Given the description of an element on the screen output the (x, y) to click on. 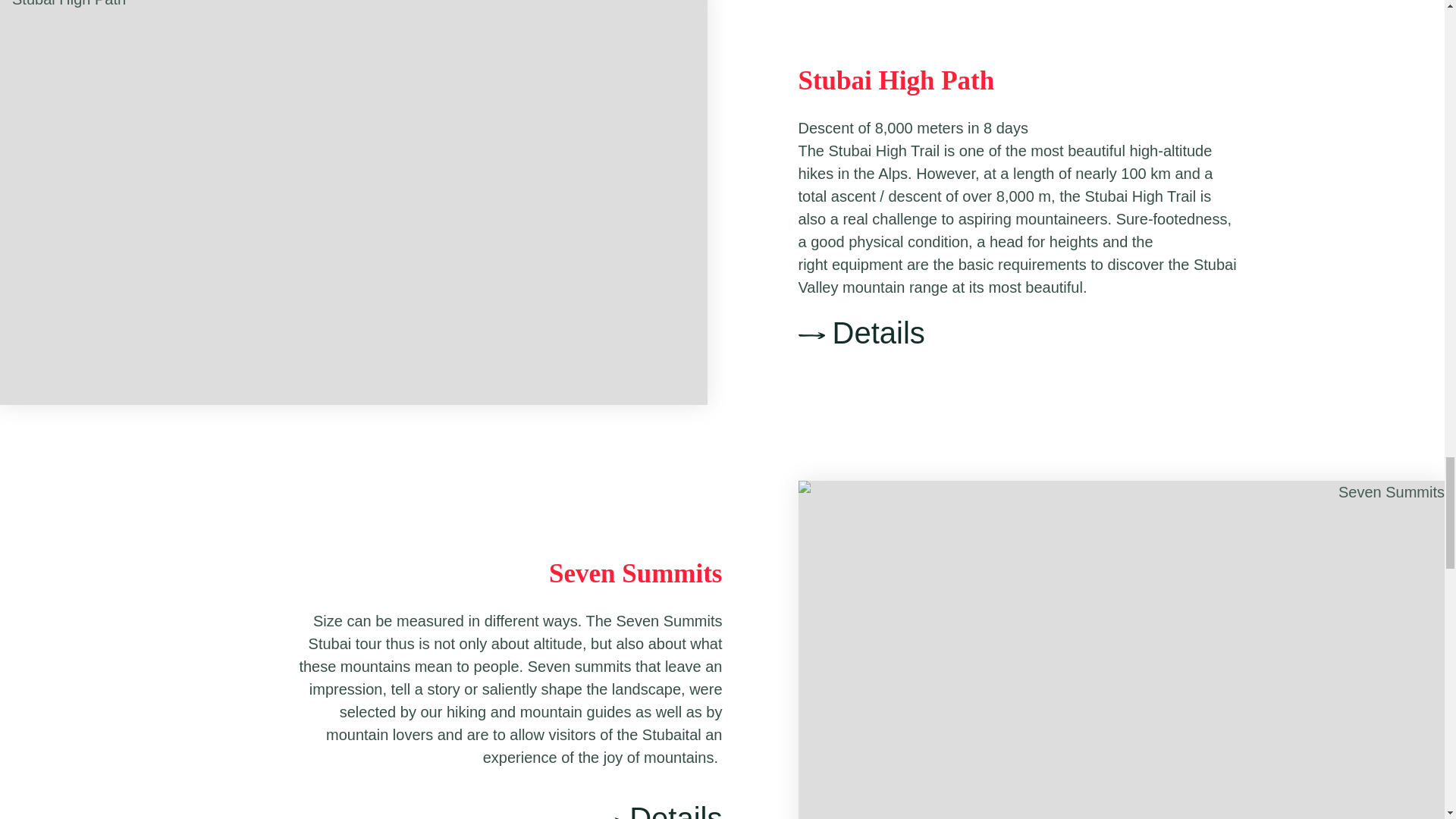
Details (658, 811)
Details (1017, 332)
Stubai High Path (895, 80)
Seven Summits (635, 573)
